Given the description of an element on the screen output the (x, y) to click on. 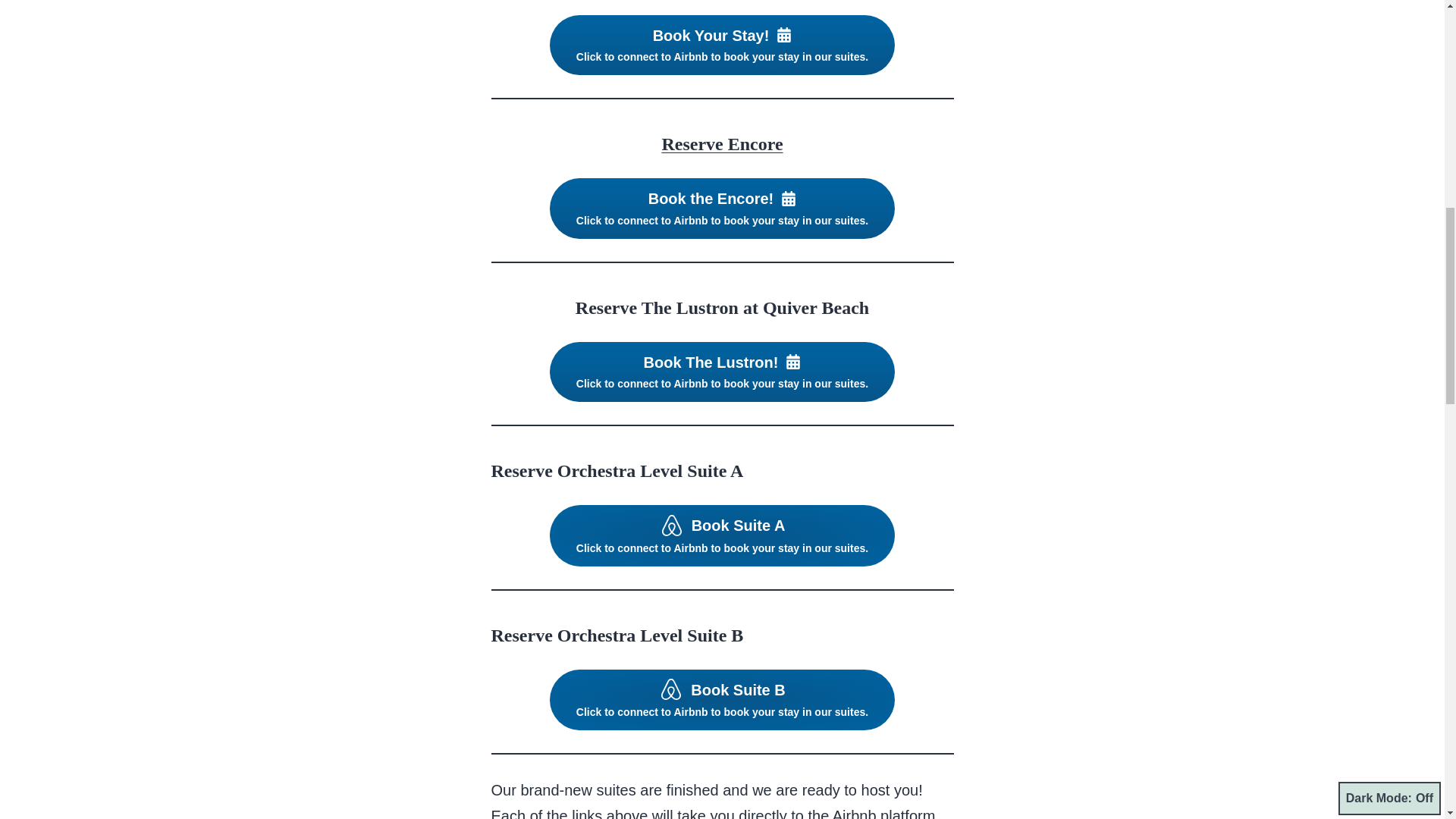
Reserve Encore (722, 143)
